Given the description of an element on the screen output the (x, y) to click on. 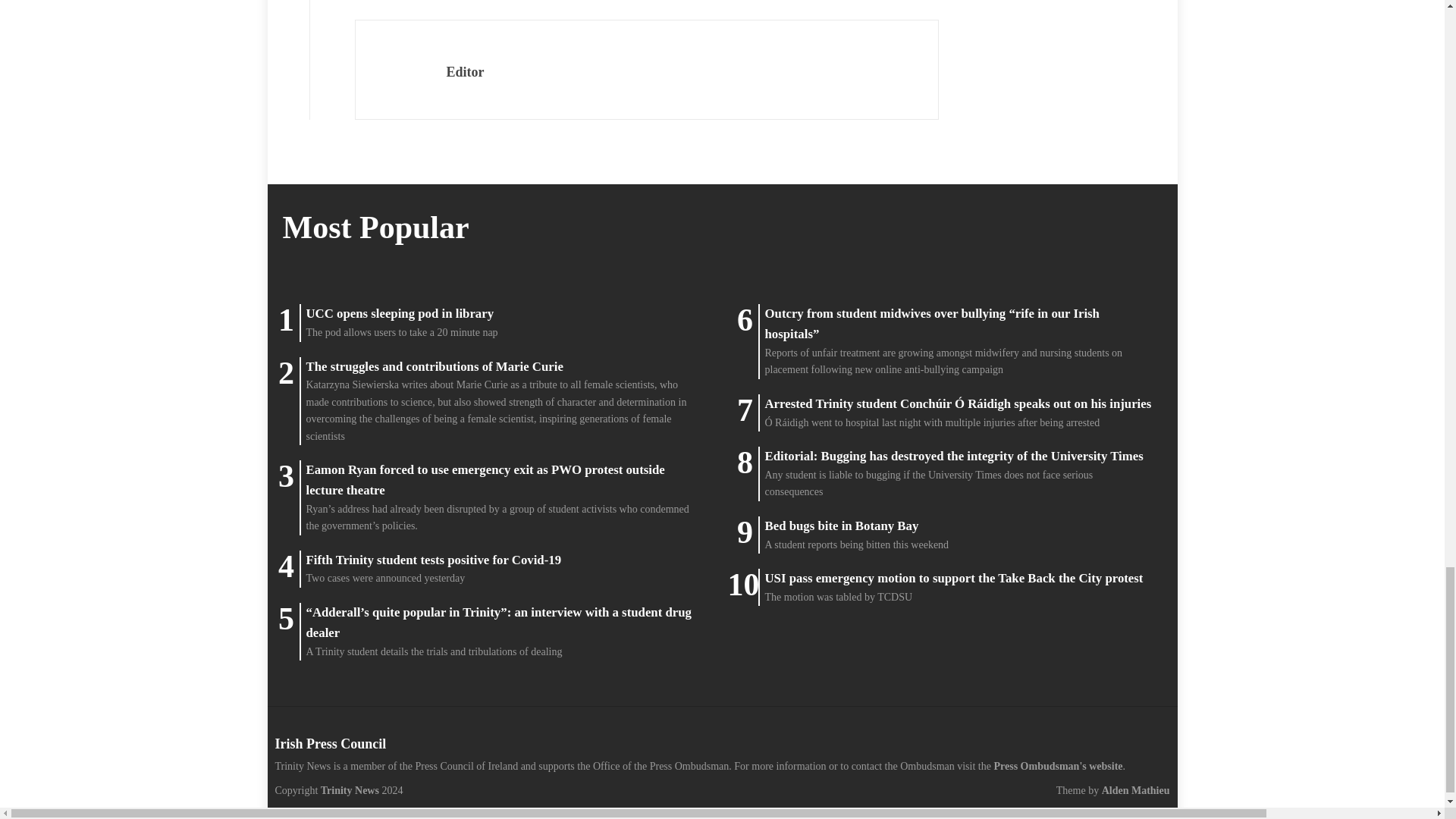
Editor (464, 71)
